Given the description of an element on the screen output the (x, y) to click on. 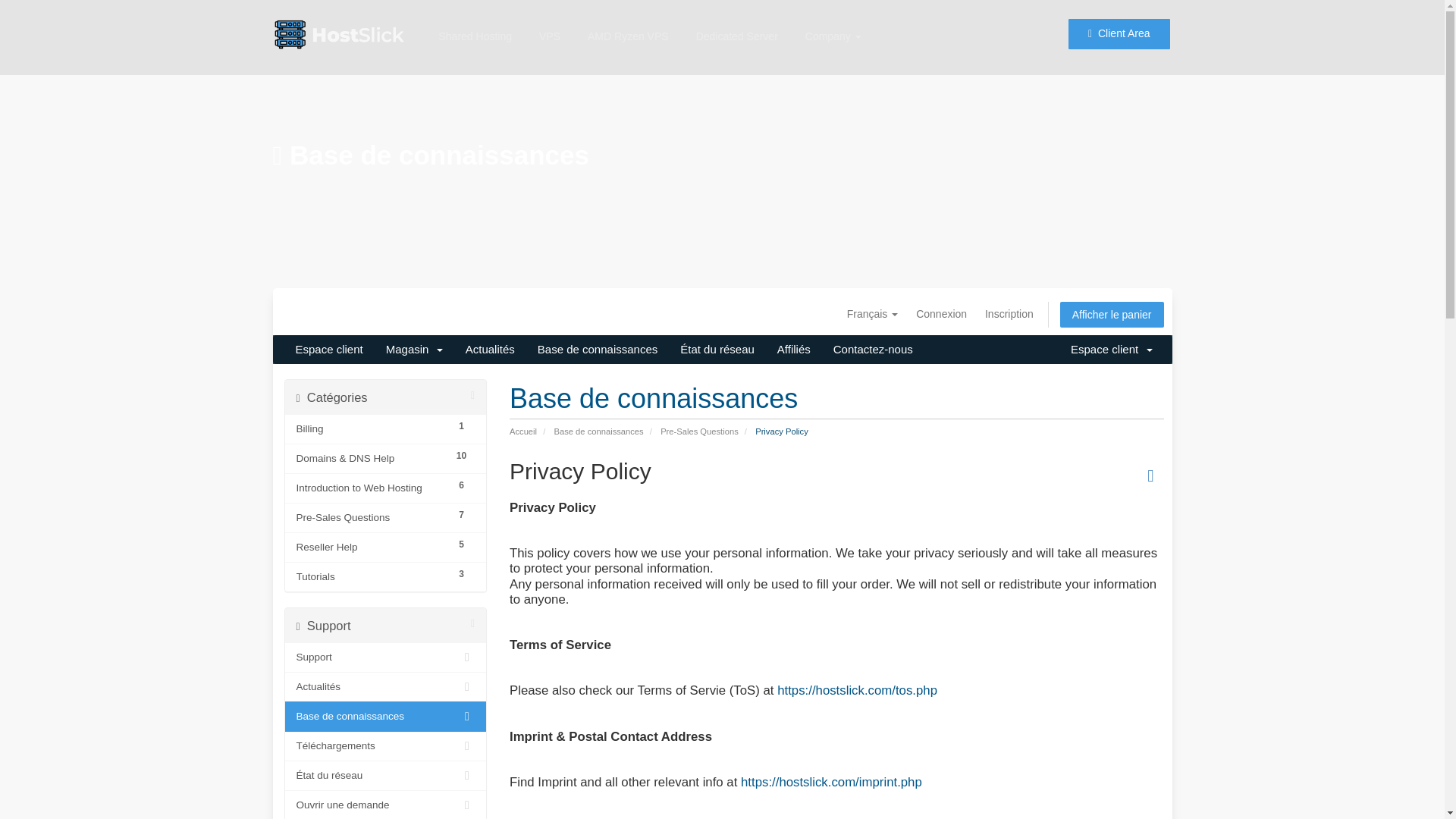
Tutorials (370, 577)
Shared Hosting (475, 12)
Reseller Help (370, 547)
Introduction to Web Hosting (370, 488)
Dedicated Server (737, 20)
Company (833, 22)
  Client Area (1118, 22)
AMD Ryzen VPS (627, 18)
Billing (370, 429)
  Client Area (1118, 27)
